Given the description of an element on the screen output the (x, y) to click on. 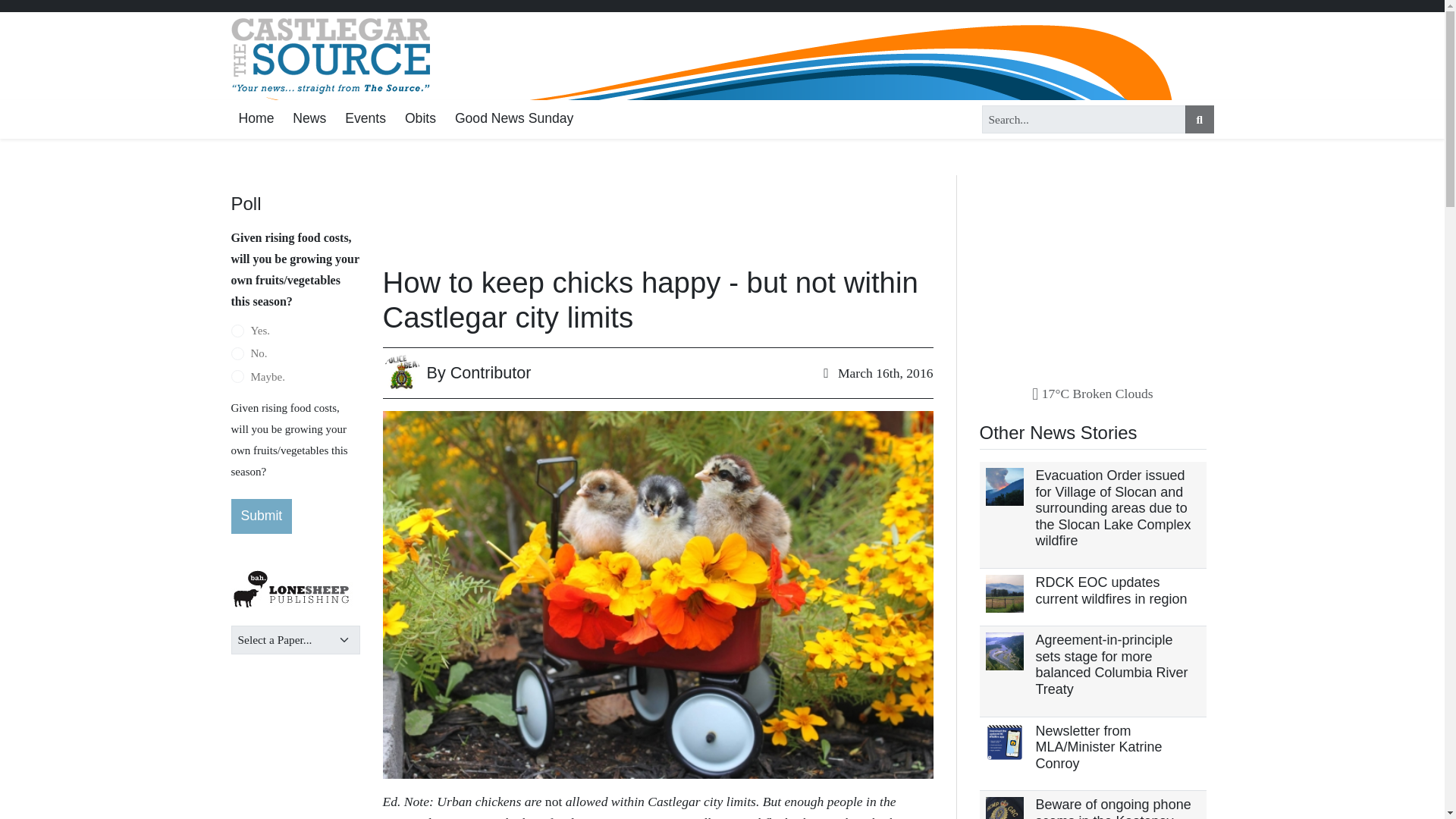
Maybe. (237, 377)
News (309, 118)
Submit (261, 515)
Beware of ongoing phone scams in the Kootenay area (1113, 807)
3rd party ad content (637, 211)
RDCK EOC updates current wildfires in region (1111, 590)
No. (237, 354)
Obits (420, 118)
Good News Sunday (513, 118)
3rd party ad content (1093, 269)
Submit (261, 515)
Yes. (237, 331)
Home (255, 118)
Events (365, 118)
